Given the description of an element on the screen output the (x, y) to click on. 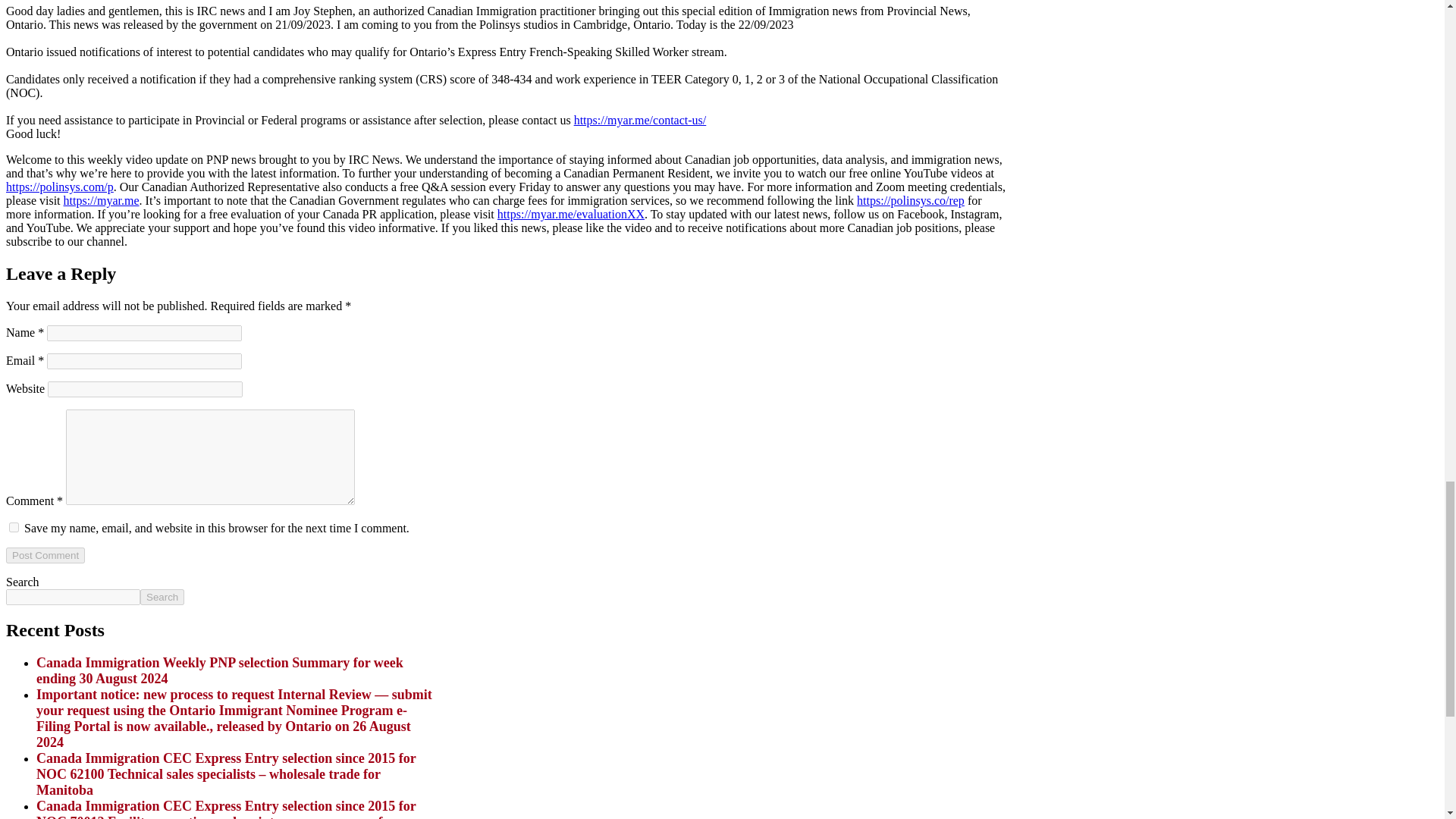
yes (13, 527)
Post Comment (44, 555)
Post Comment (44, 555)
Search (161, 596)
